Given the description of an element on the screen output the (x, y) to click on. 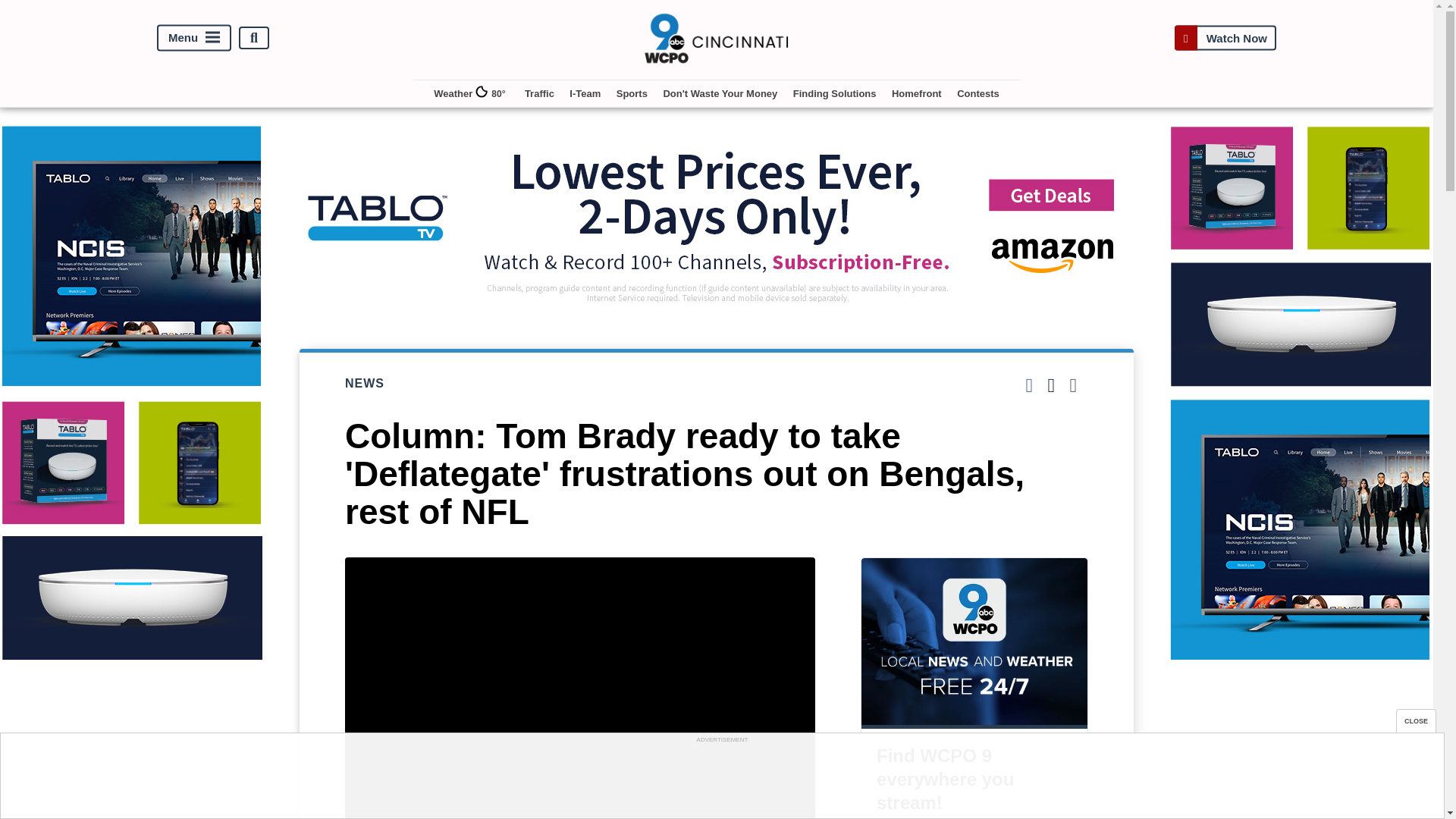
3rd party ad content (721, 780)
Menu (194, 38)
Watch Now (1224, 38)
